Given the description of an element on the screen output the (x, y) to click on. 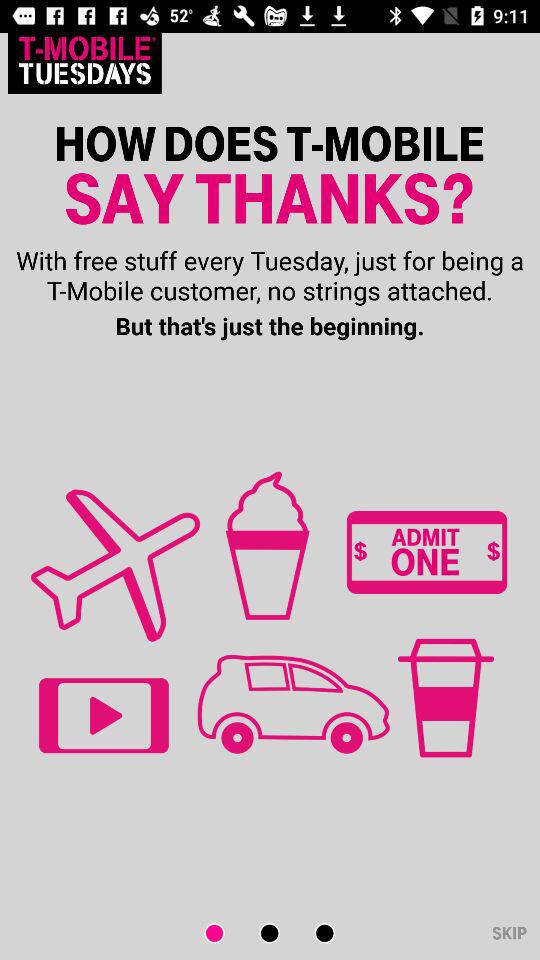
next scene (312, 933)
